Given the description of an element on the screen output the (x, y) to click on. 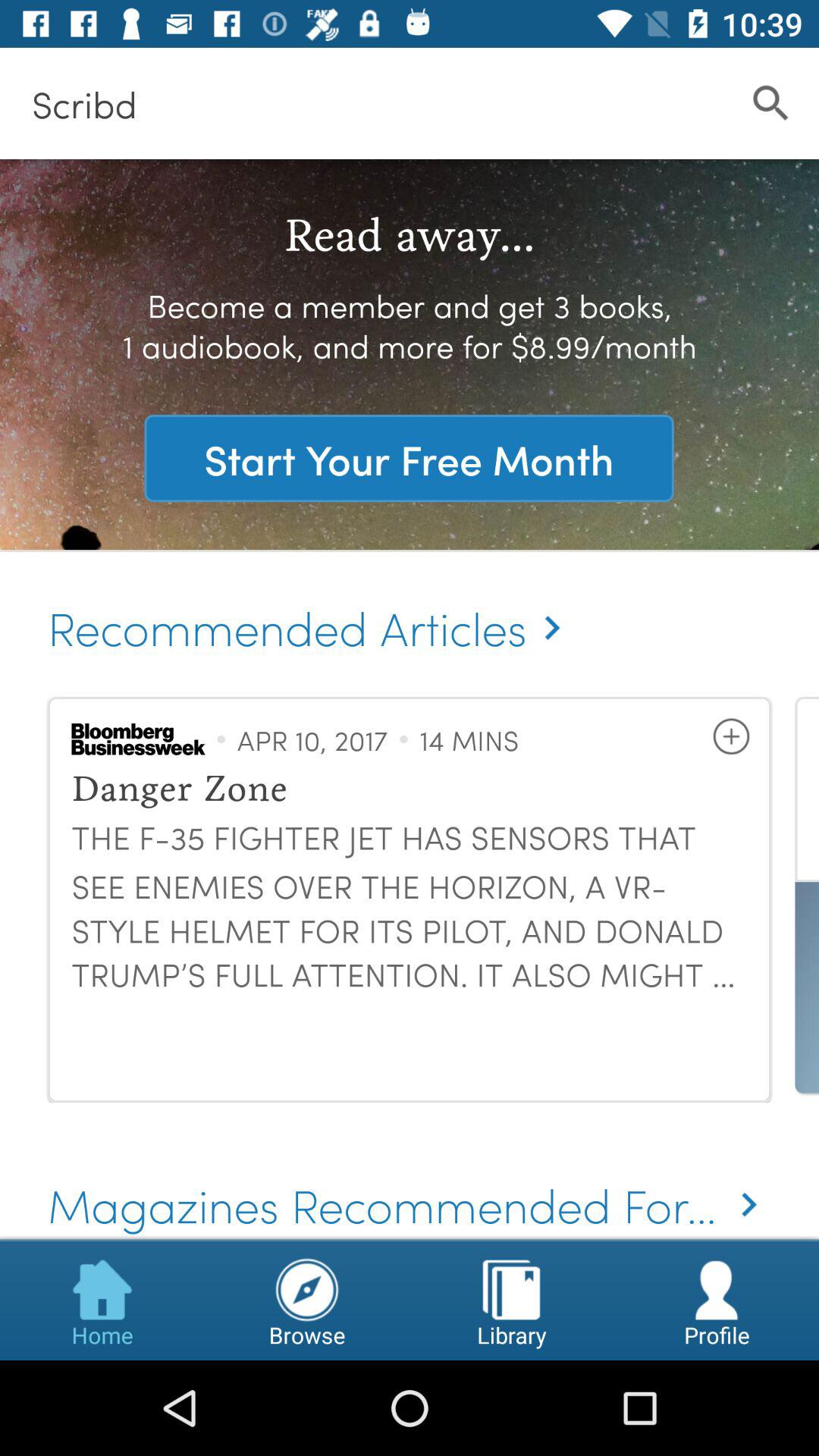
turn off icon below become a member (408, 458)
